Given the description of an element on the screen output the (x, y) to click on. 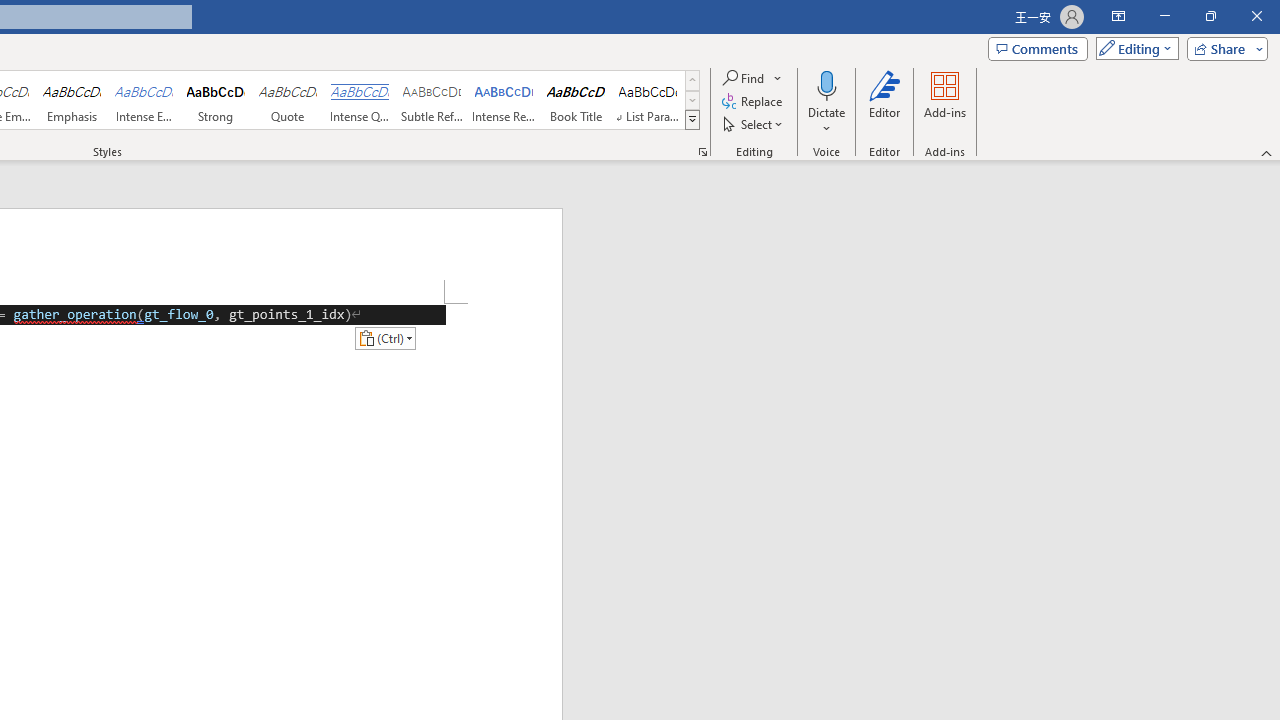
Action: Paste alternatives (385, 337)
